Given the description of an element on the screen output the (x, y) to click on. 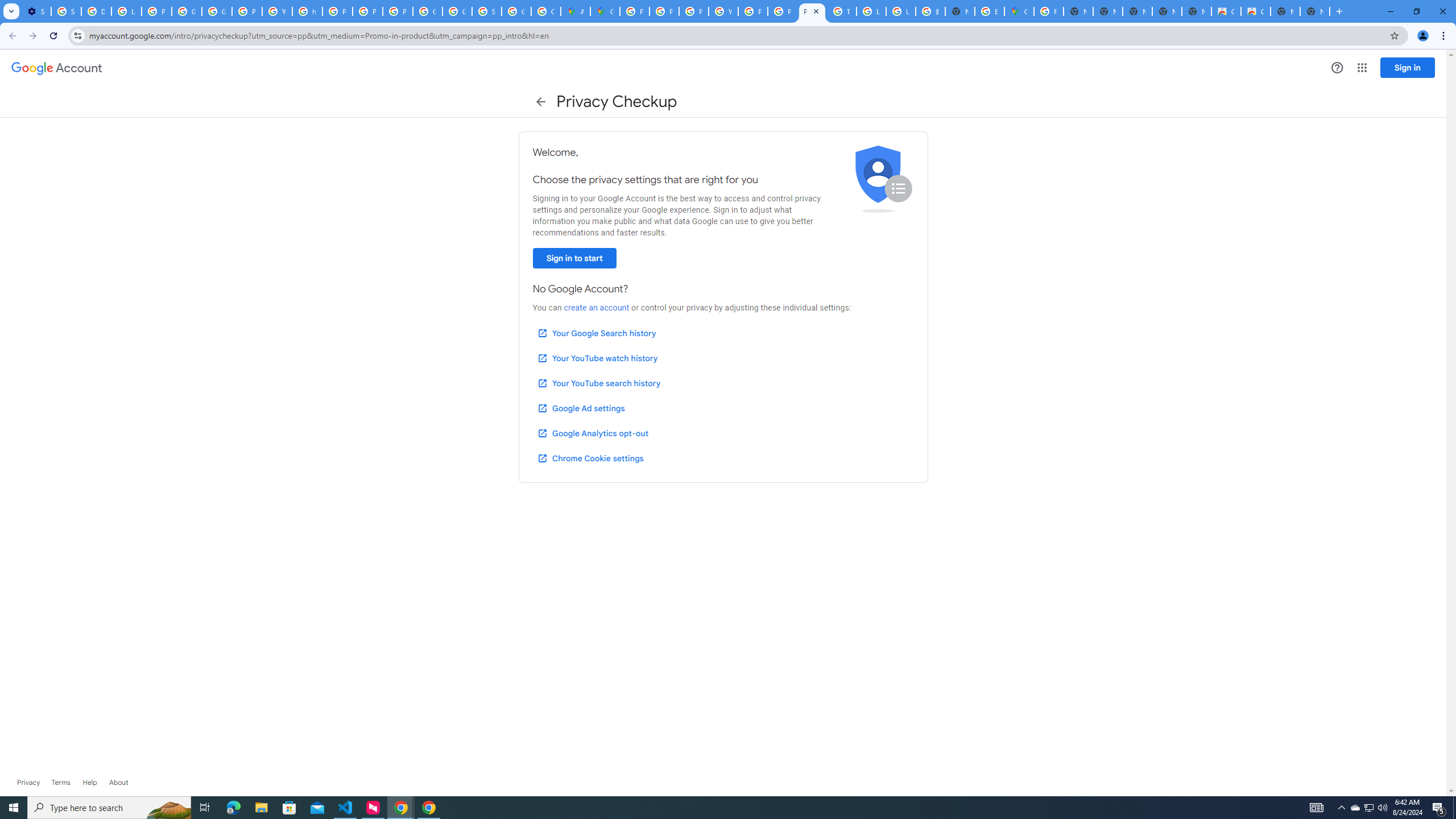
Create your Google Account (545, 11)
Chrome Cookie settings (589, 457)
Settings - On startup (36, 11)
Privacy Help Center - Policies Help (337, 11)
Google Ad settings (580, 408)
Google Analytics opt-out (592, 433)
Explore new street-level details - Google Maps Help (989, 11)
